Given the description of an element on the screen output the (x, y) to click on. 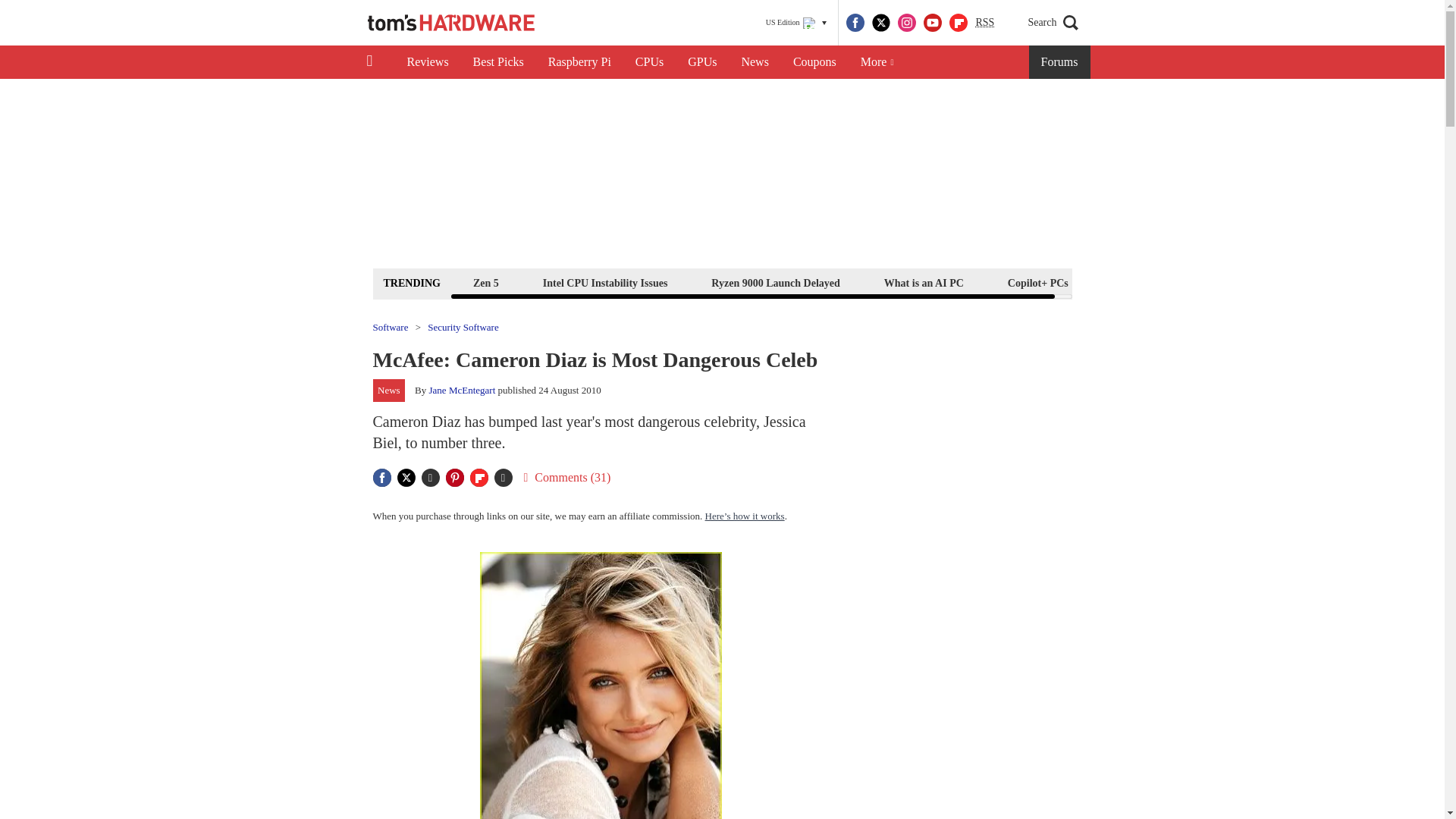
Coupons (814, 61)
Reviews (427, 61)
CPUs (649, 61)
Zen 5 (485, 282)
RSS (984, 22)
Really Simple Syndication (984, 21)
Raspberry Pi (579, 61)
GPUs (702, 61)
US Edition (796, 22)
Forums (1059, 61)
